Given the description of an element on the screen output the (x, y) to click on. 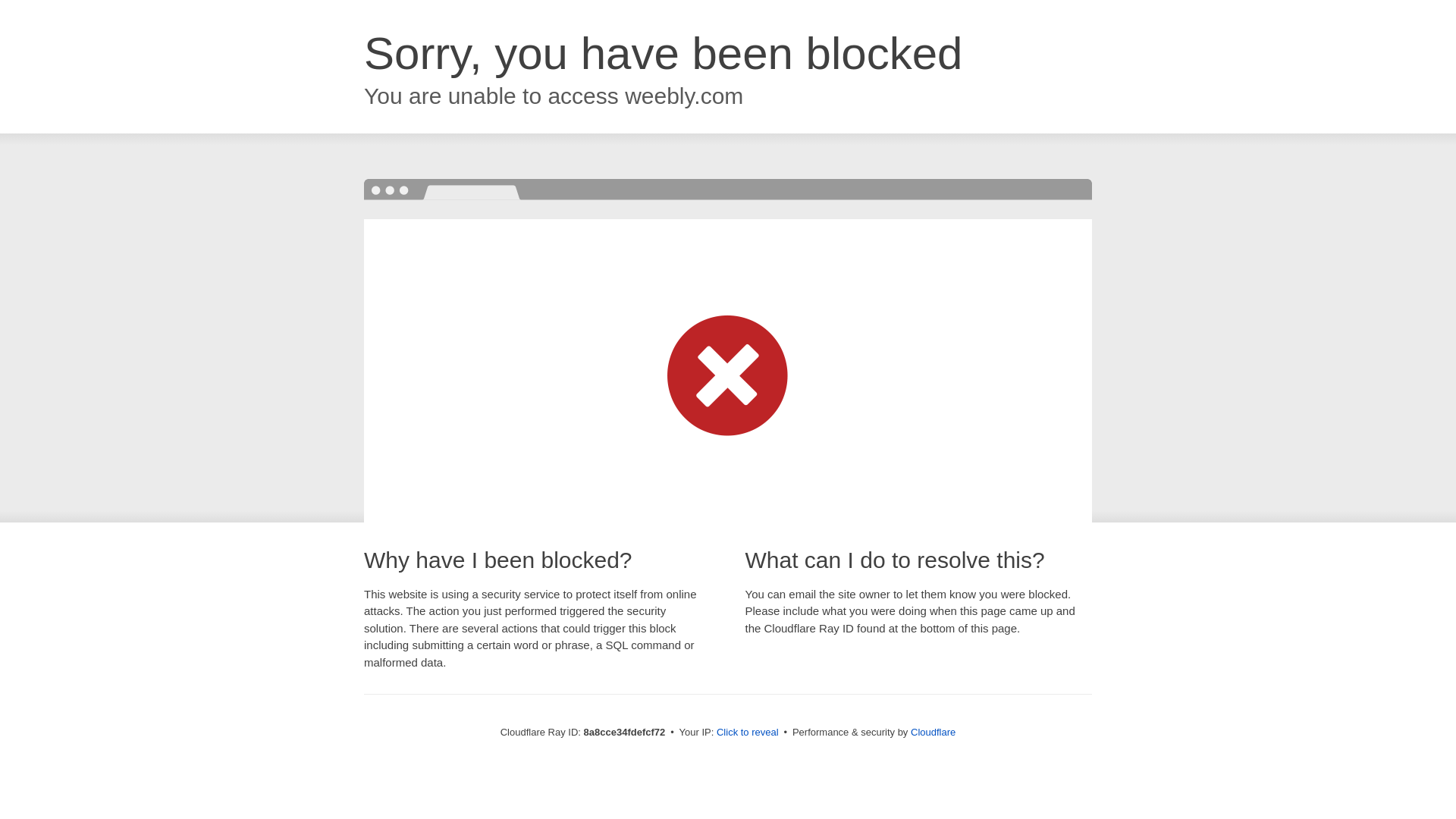
Click to reveal (747, 732)
Cloudflare (933, 731)
